Given the description of an element on the screen output the (x, y) to click on. 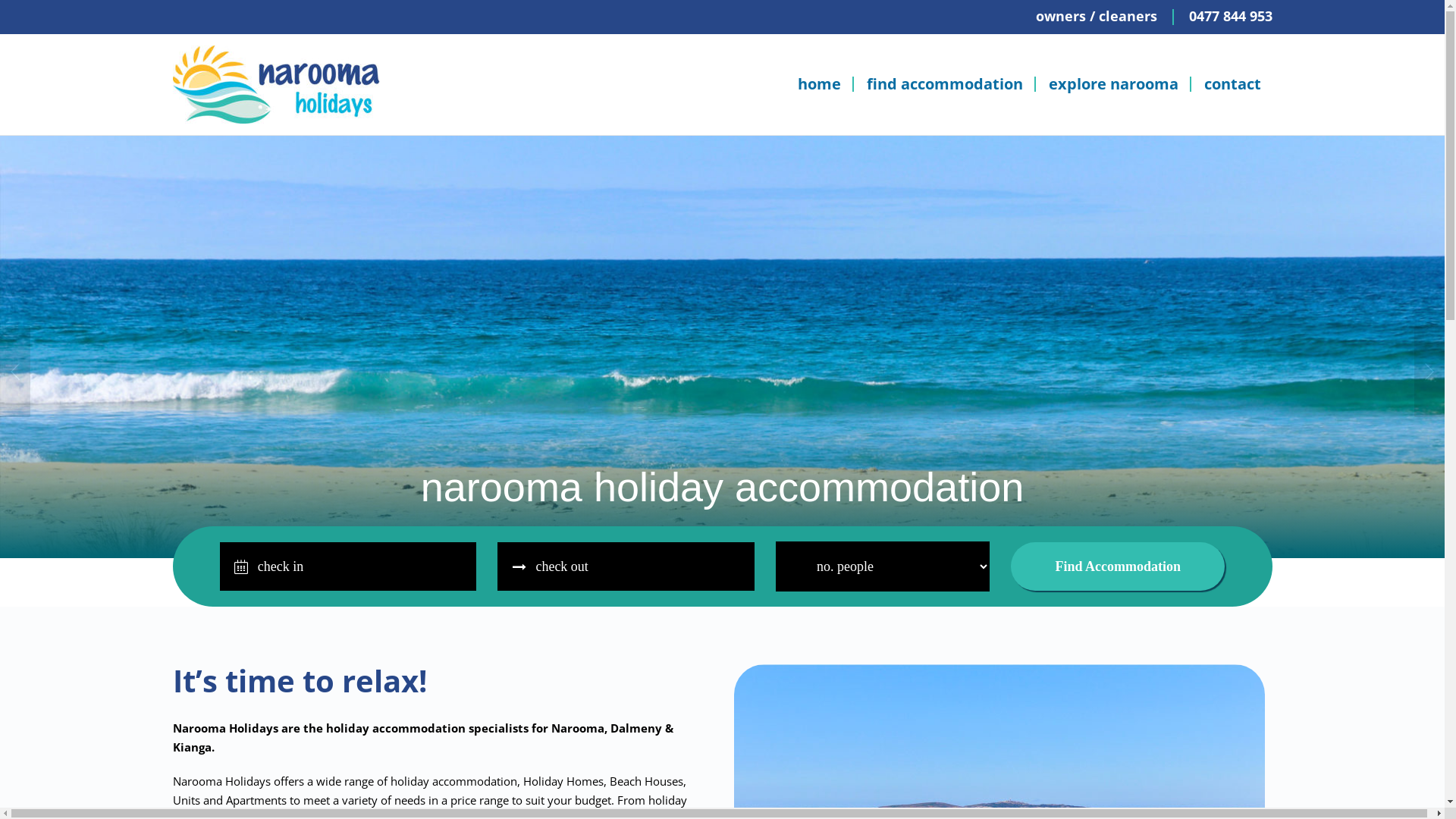
explore narooma Element type: text (1114, 83)
0477 844 953 Element type: text (1230, 17)
find accommodation Element type: text (945, 83)
Find Accommodation Element type: text (1117, 566)
contact Element type: text (1231, 83)
owners / cleaners Element type: text (1096, 17)
home Element type: text (819, 83)
